Given the description of an element on the screen output the (x, y) to click on. 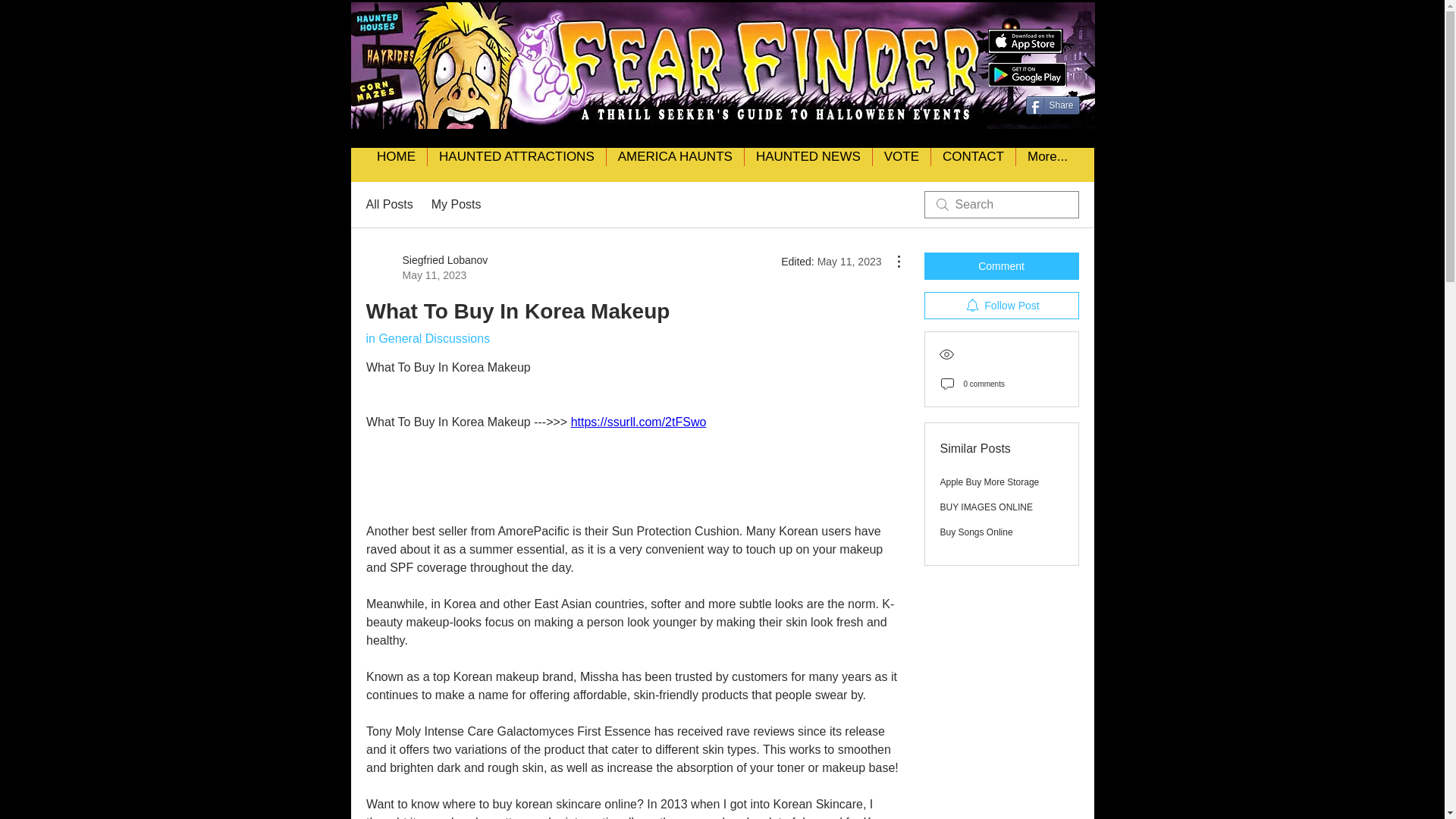
AMERICA HAUNTS (674, 164)
HAUNTED NEWS (808, 164)
HAUNTED ATTRACTIONS (515, 164)
VOTE (901, 164)
in General Discussions (427, 338)
HOME (395, 164)
Buy Songs Online (976, 532)
Apple Buy More Storage (989, 481)
CONTACT (972, 164)
My Posts (455, 204)
All Posts (388, 204)
BUY IMAGES ONLINE (986, 507)
Follow Post (1000, 305)
Share (1051, 105)
Share (1051, 105)
